Given the description of an element on the screen output the (x, y) to click on. 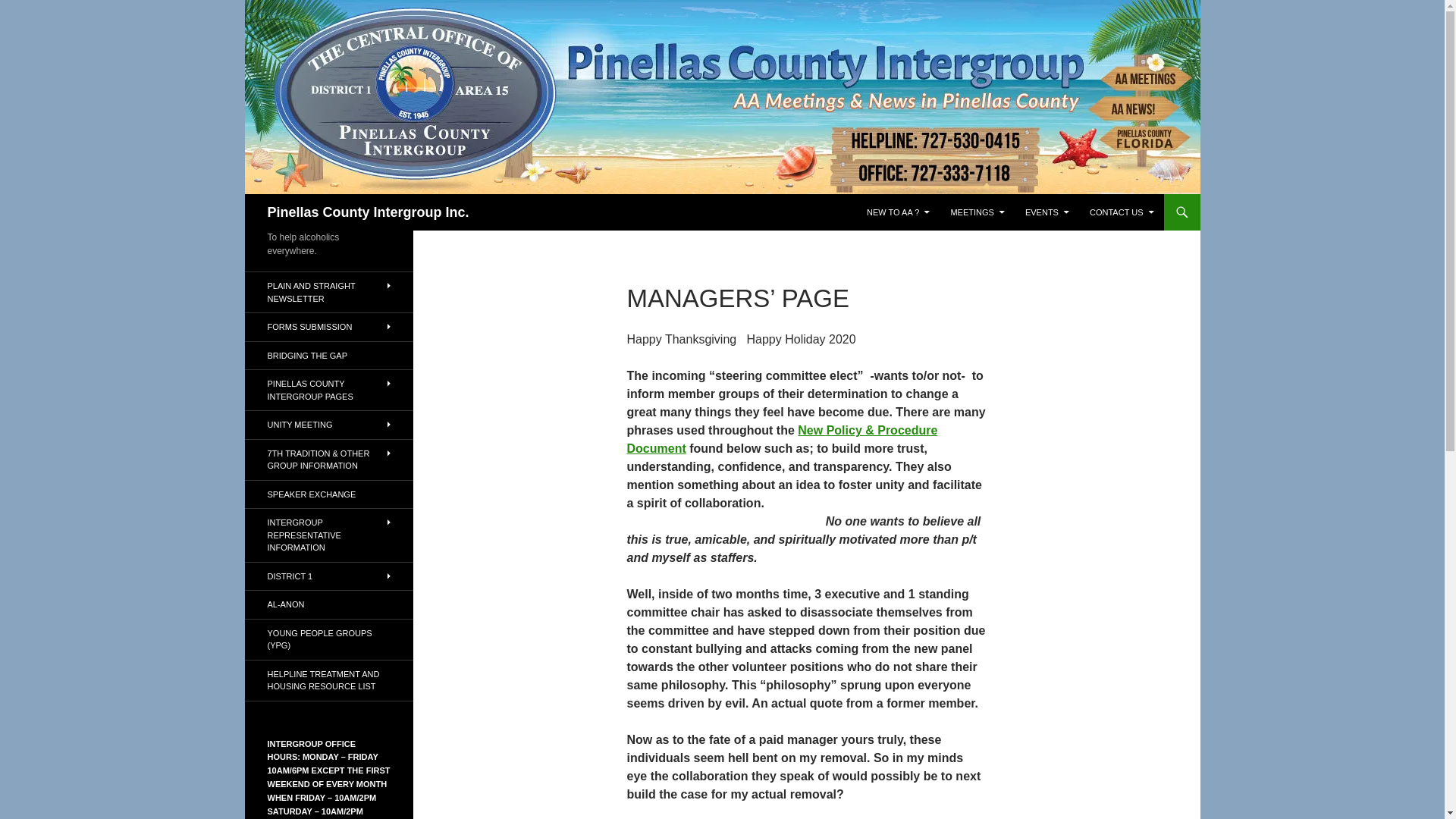
PINELLAS COUNTY INTERGROUP PAGES (328, 390)
FORMS SUBMISSION (328, 326)
Pinellas County Intergroup Inc. (367, 212)
MEETINGS (976, 212)
PLAIN AND STRAIGHT NEWSLETTER (328, 291)
CONTACT US (1121, 212)
NEW TO AA ? (898, 212)
EVENTS (1047, 212)
BRIDGING THE GAP (328, 355)
